Given the description of an element on the screen output the (x, y) to click on. 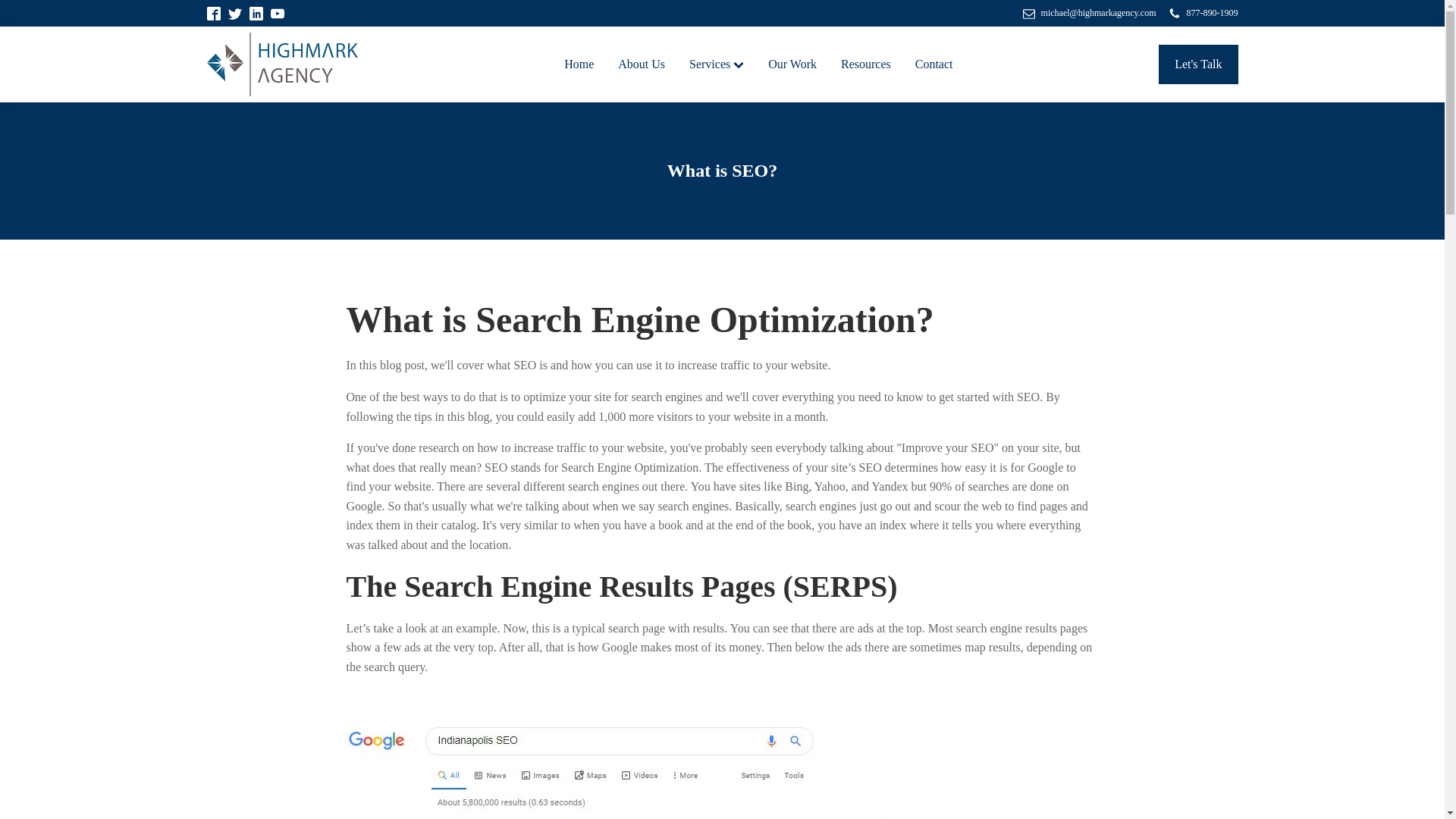
877-890-1909 (1202, 12)
Home (578, 64)
Resources (865, 64)
Our Work (791, 64)
Contact (933, 64)
About Us (641, 64)
Let's Talk (1197, 64)
Services (716, 64)
